Given the description of an element on the screen output the (x, y) to click on. 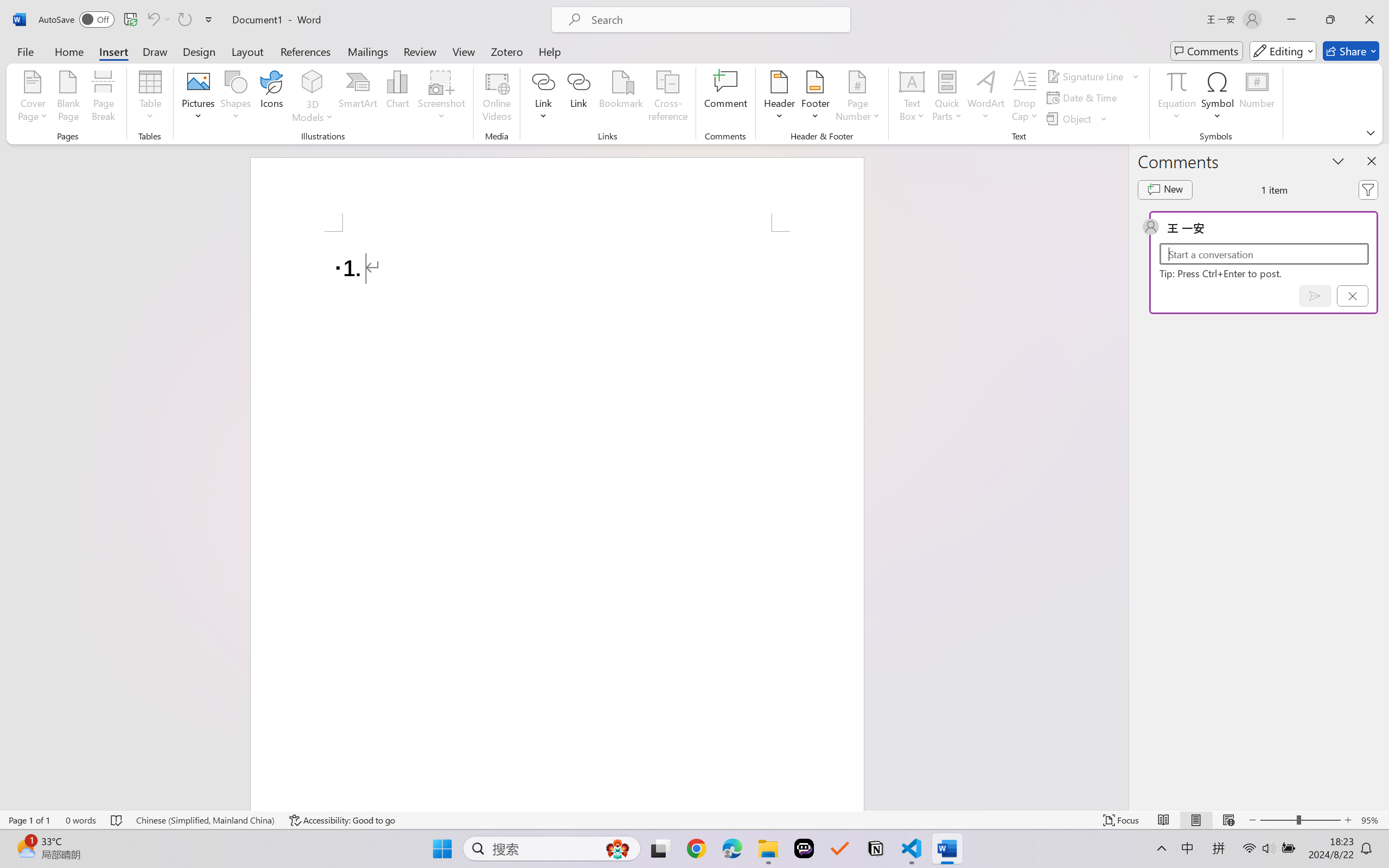
Link (543, 97)
SmartArt... (358, 97)
Bookmark... (620, 97)
Repeat Doc Close (184, 19)
Post comment (Ctrl + Enter) (1315, 295)
Online Videos... (496, 97)
Equation (1176, 97)
Signature Line (1086, 75)
Equation (1176, 81)
